Given the description of an element on the screen output the (x, y) to click on. 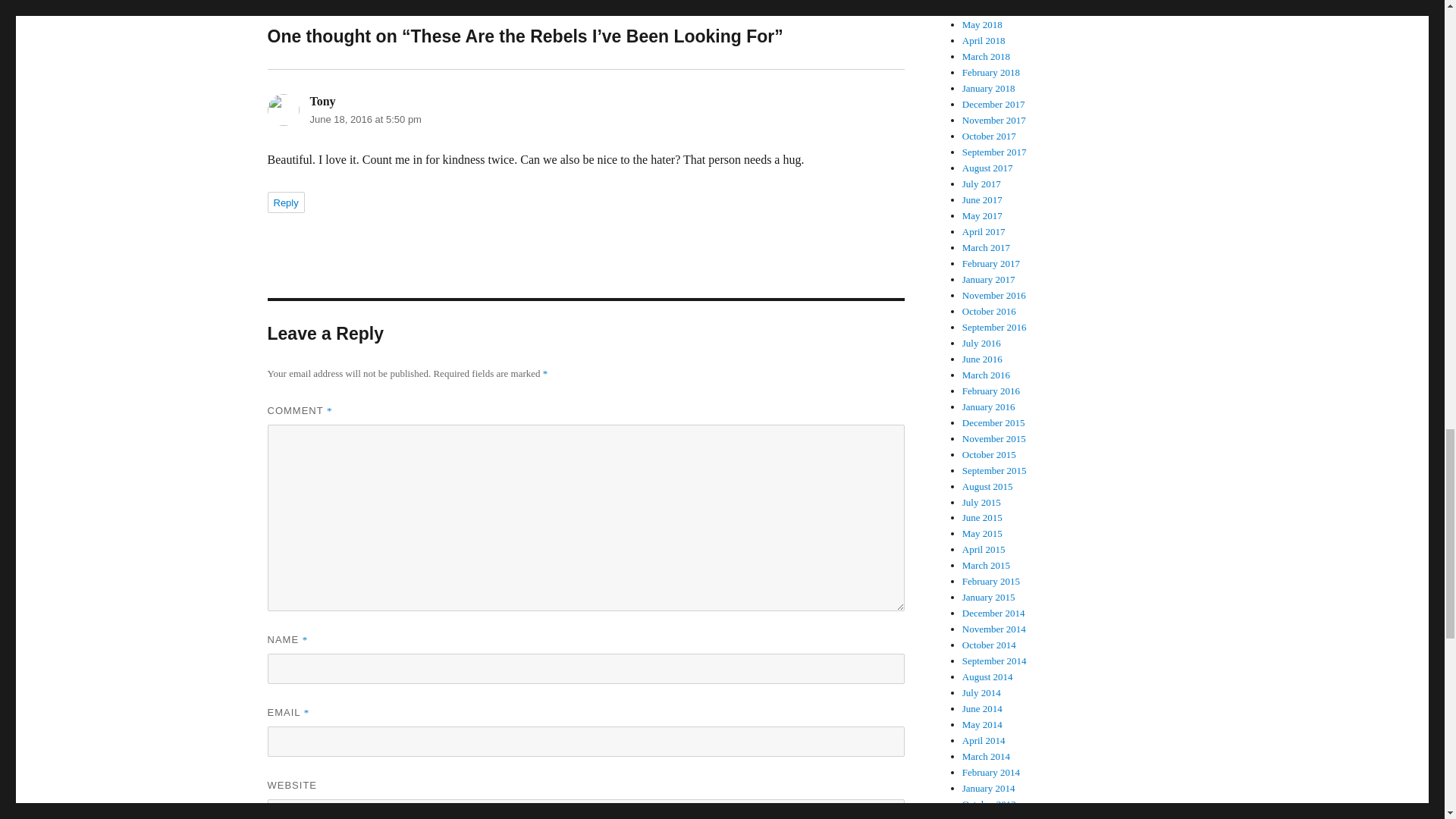
June 18, 2016 at 5:50 pm (364, 119)
Reply (285, 201)
